Given the description of an element on the screen output the (x, y) to click on. 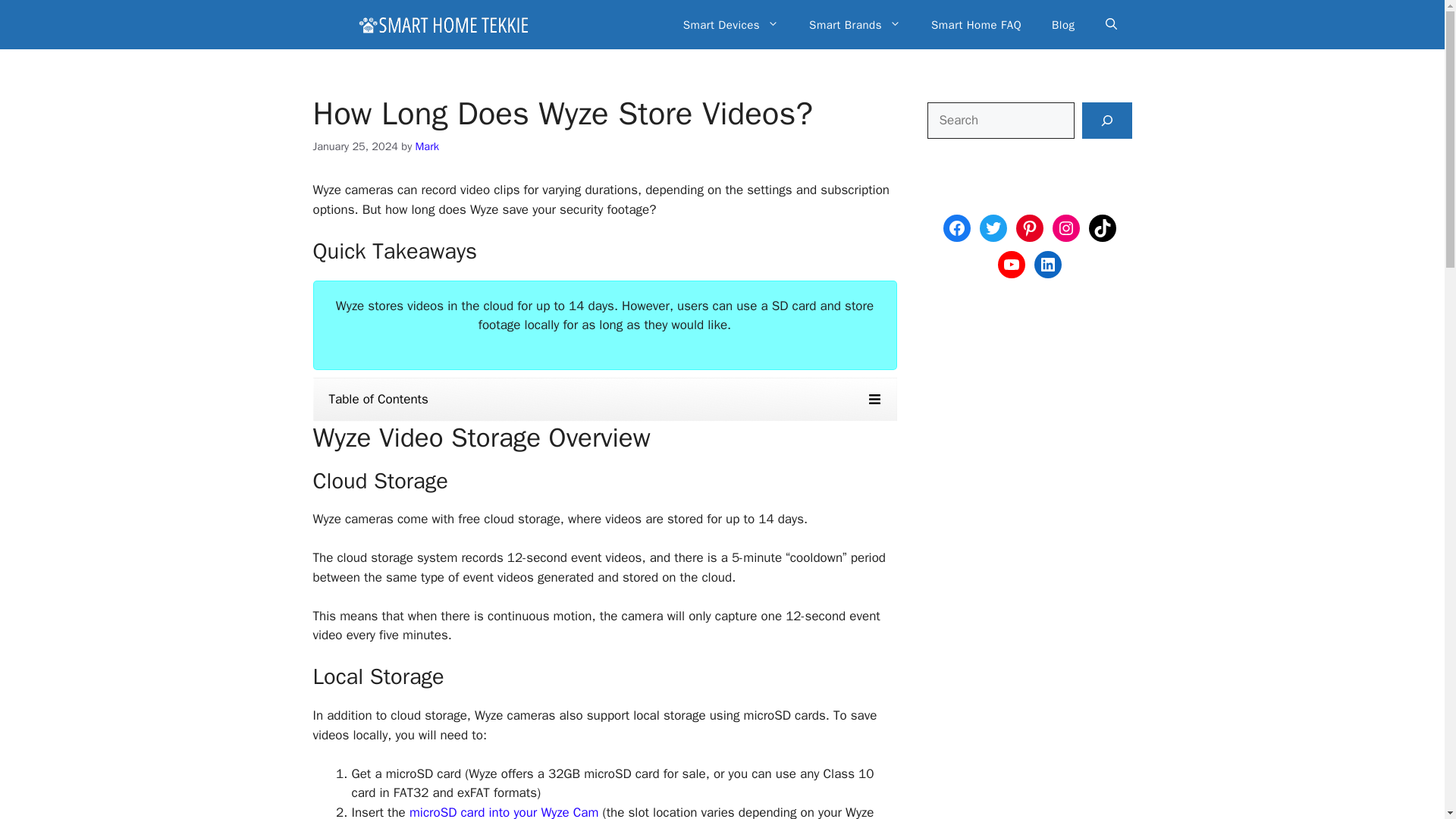
Smart Brands (854, 23)
Mark (426, 146)
Table of Contents (604, 399)
Smart Home FAQ (975, 23)
Smart Home Tekkie (443, 24)
View all posts by Mark (426, 146)
Smart Devices (730, 23)
Blog (1062, 23)
